Given the description of an element on the screen output the (x, y) to click on. 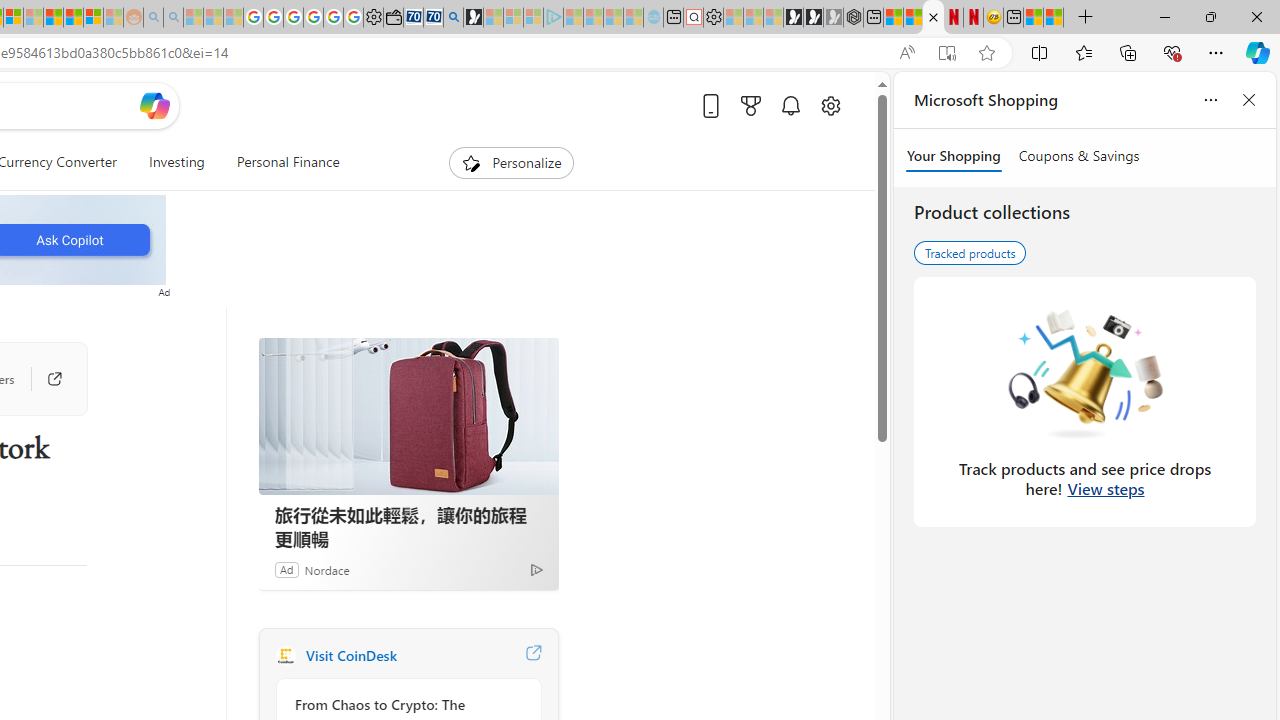
Kinda Frugal - MSN (73, 17)
Visit CoinDesk website (532, 655)
